Given the description of an element on the screen output the (x, y) to click on. 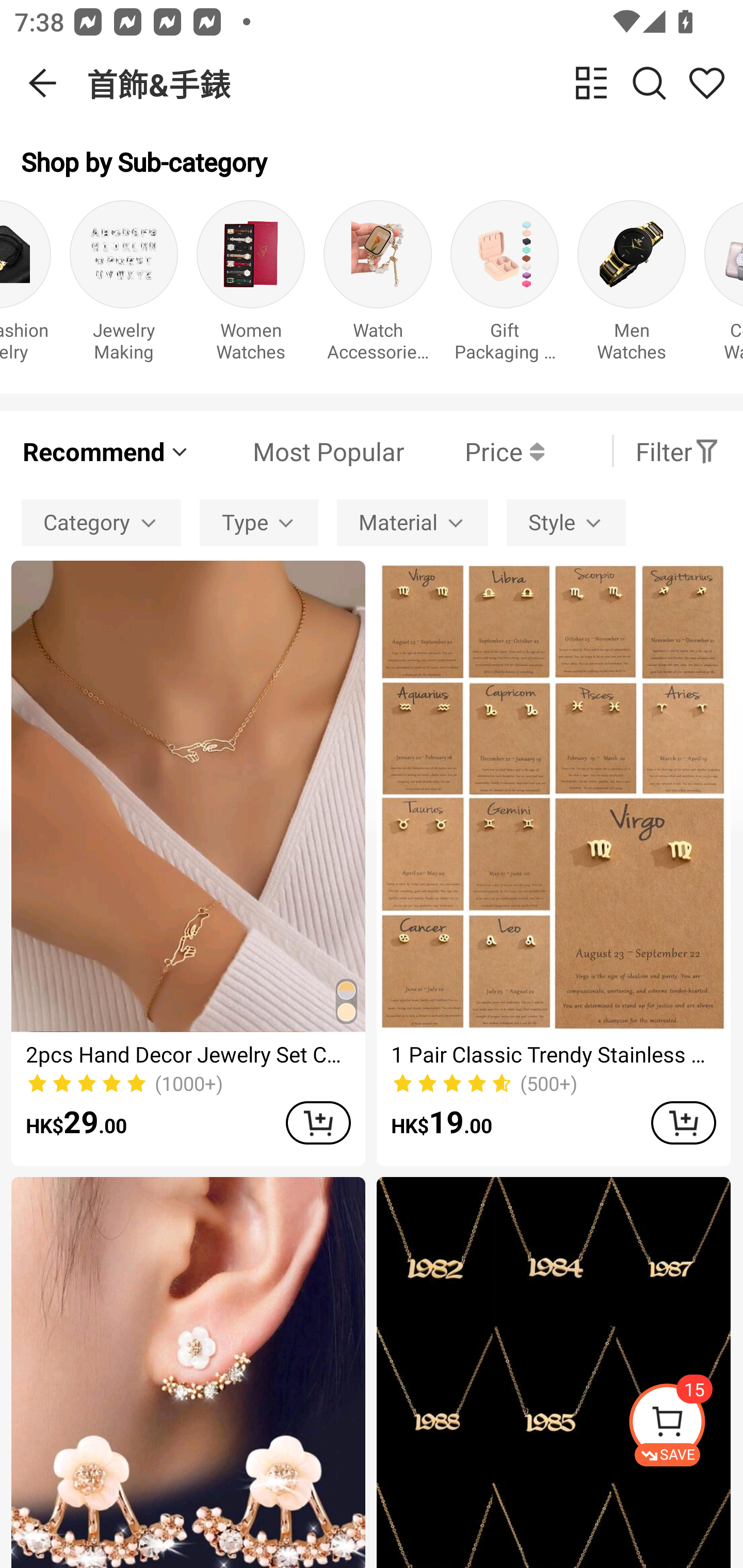
首飾&手錶 change view Search Share (414, 82)
change view (591, 82)
Search (648, 82)
Share (706, 82)
Jewelry Making (123, 285)
Women Watches (250, 285)
Watch Accessories & Tools (377, 285)
Gift Packaging & Jewelry Displays (504, 285)
Men Watches (631, 285)
Recommend (106, 450)
Most Popular (297, 450)
Price (474, 450)
Filter (677, 450)
Category (101, 521)
Type (258, 521)
Material (412, 521)
Style (565, 521)
ADD TO CART (318, 1122)
ADD TO CART (683, 1122)
SAVE (685, 1424)
